Given the description of an element on the screen output the (x, y) to click on. 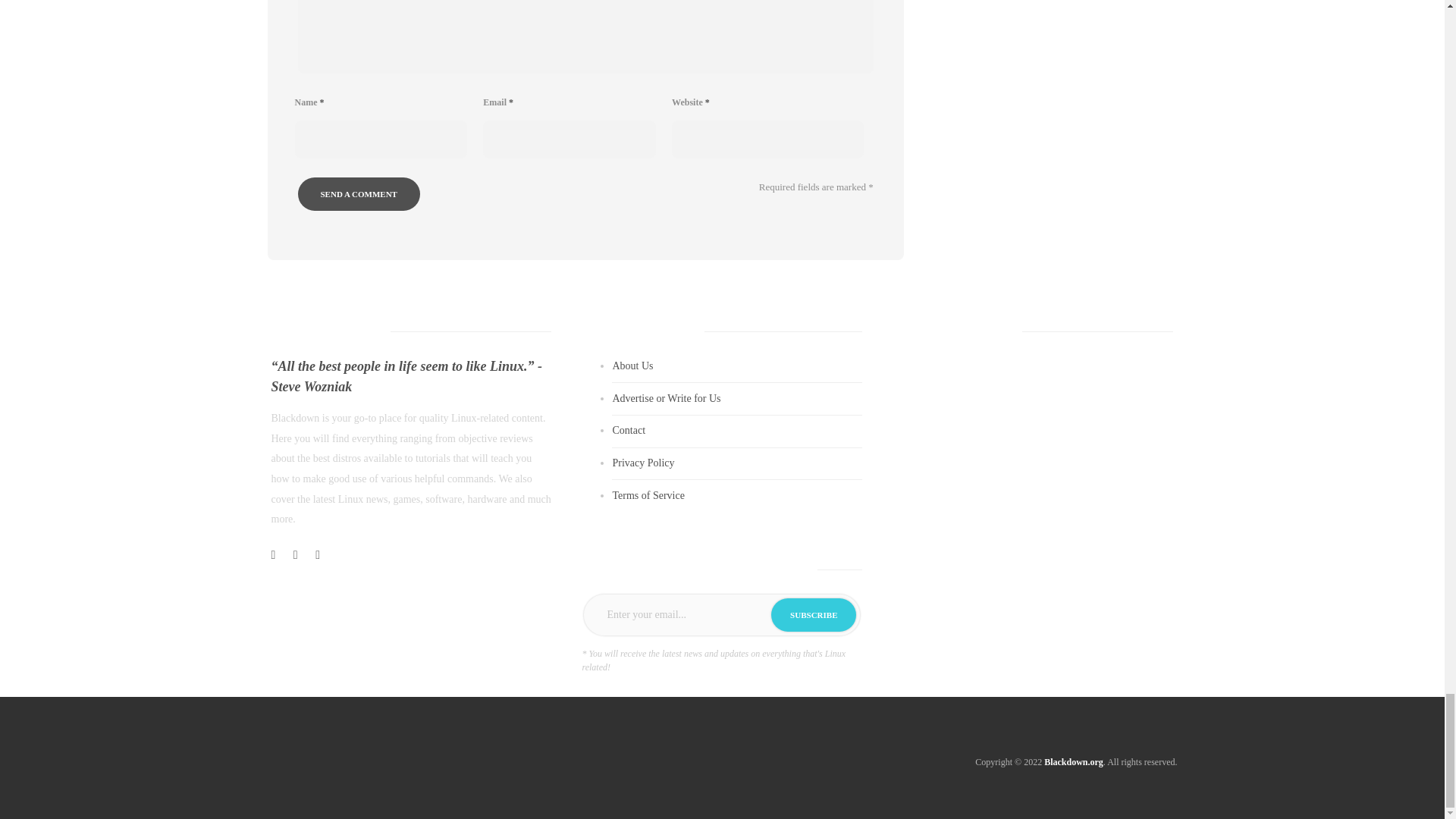
Subscribe (813, 614)
Send a comment (358, 193)
Smartproxy Free Trial (1032, 495)
